Given the description of an element on the screen output the (x, y) to click on. 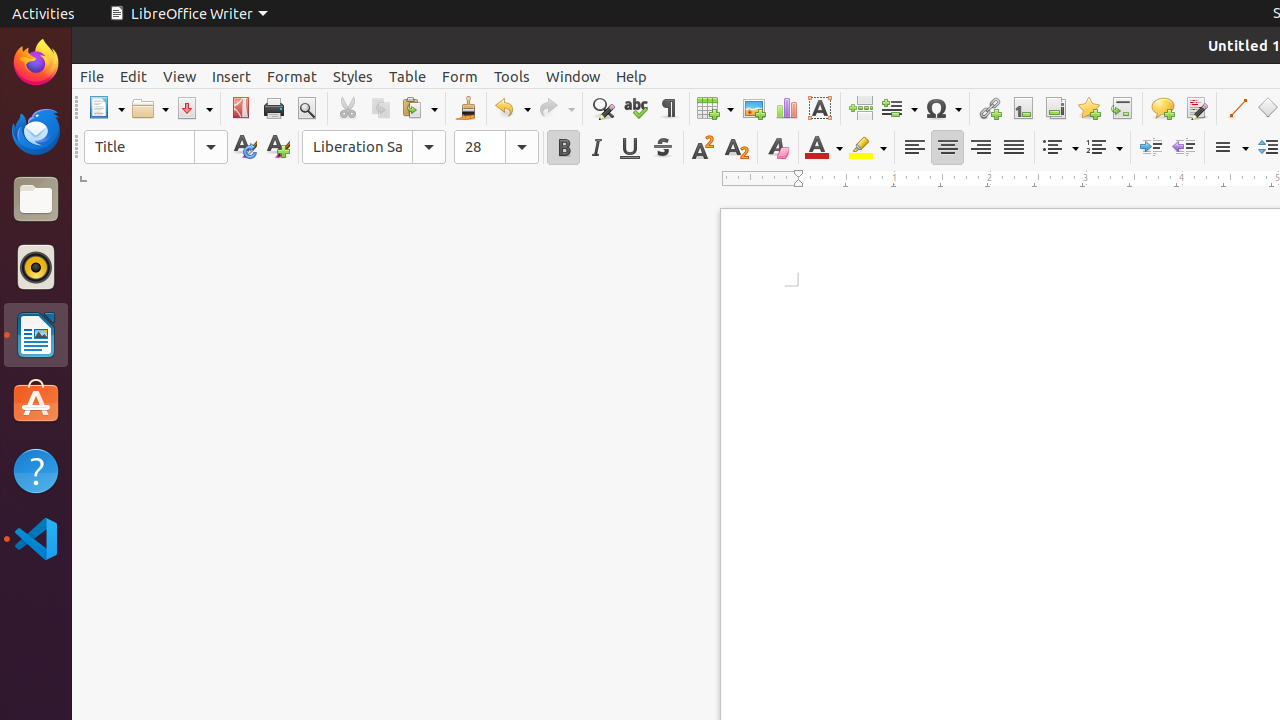
New Element type: push-button (277, 147)
Print Element type: push-button (273, 108)
Line Spacing Element type: push-button (1230, 147)
Table Element type: push-button (715, 108)
Track Changes Functions Element type: toggle-button (1195, 108)
